Given the description of an element on the screen output the (x, y) to click on. 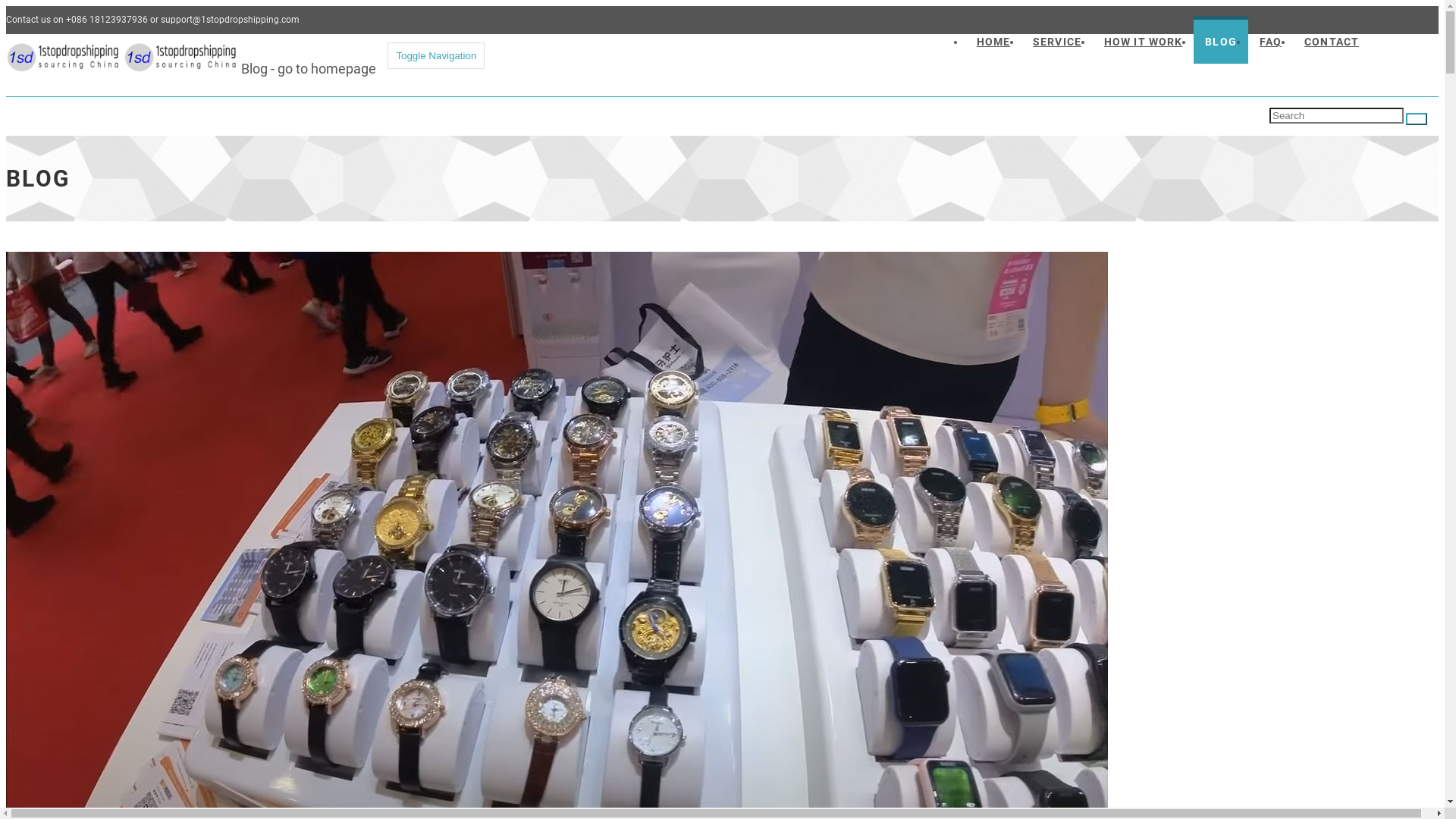
Toggle Navigation Element type: text (435, 55)
HOW IT WORK Element type: text (1142, 39)
HOME Element type: text (993, 39)
CONTACT Element type: text (1331, 39)
SERVICE Element type: text (1056, 39)
BLOG Element type: text (1220, 39)
FAQ Element type: text (1270, 39)
